Given the description of an element on the screen output the (x, y) to click on. 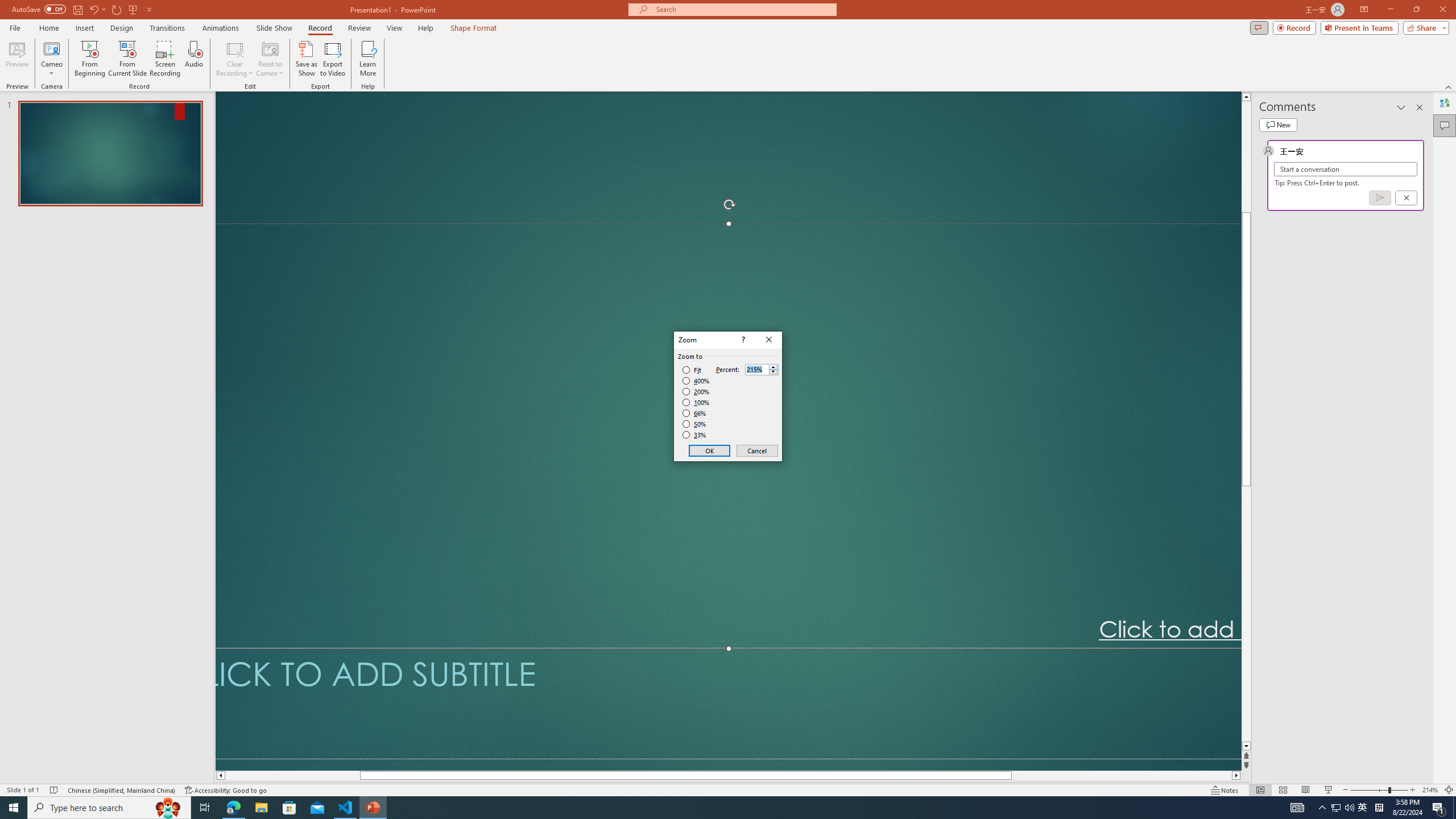
400% (696, 380)
Learn More (368, 58)
Audio (193, 58)
Subtitle TextBox (728, 703)
Clear Recording (234, 58)
